Given the description of an element on the screen output the (x, y) to click on. 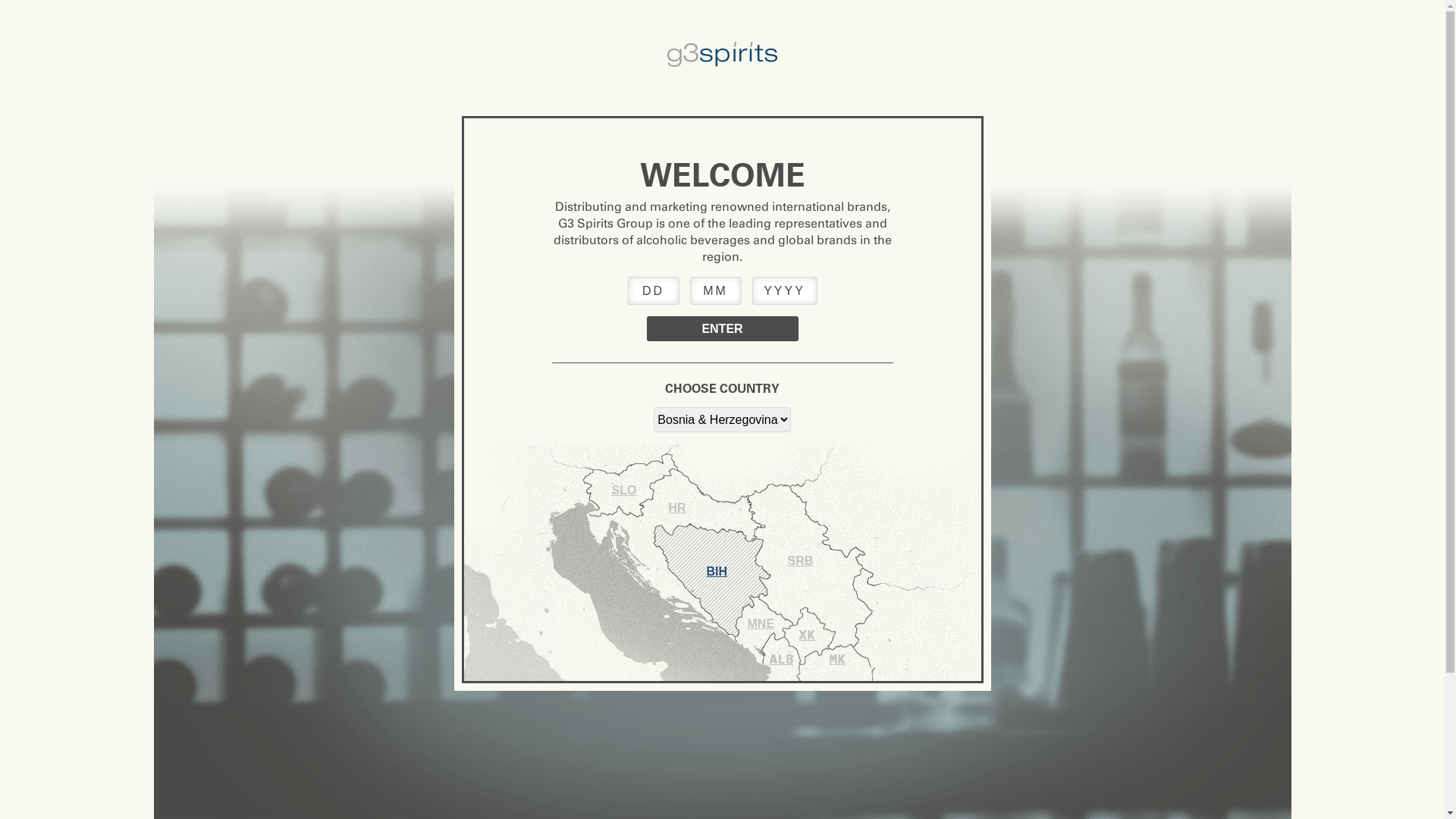
Enter Element type: text (721, 328)
